Given the description of an element on the screen output the (x, y) to click on. 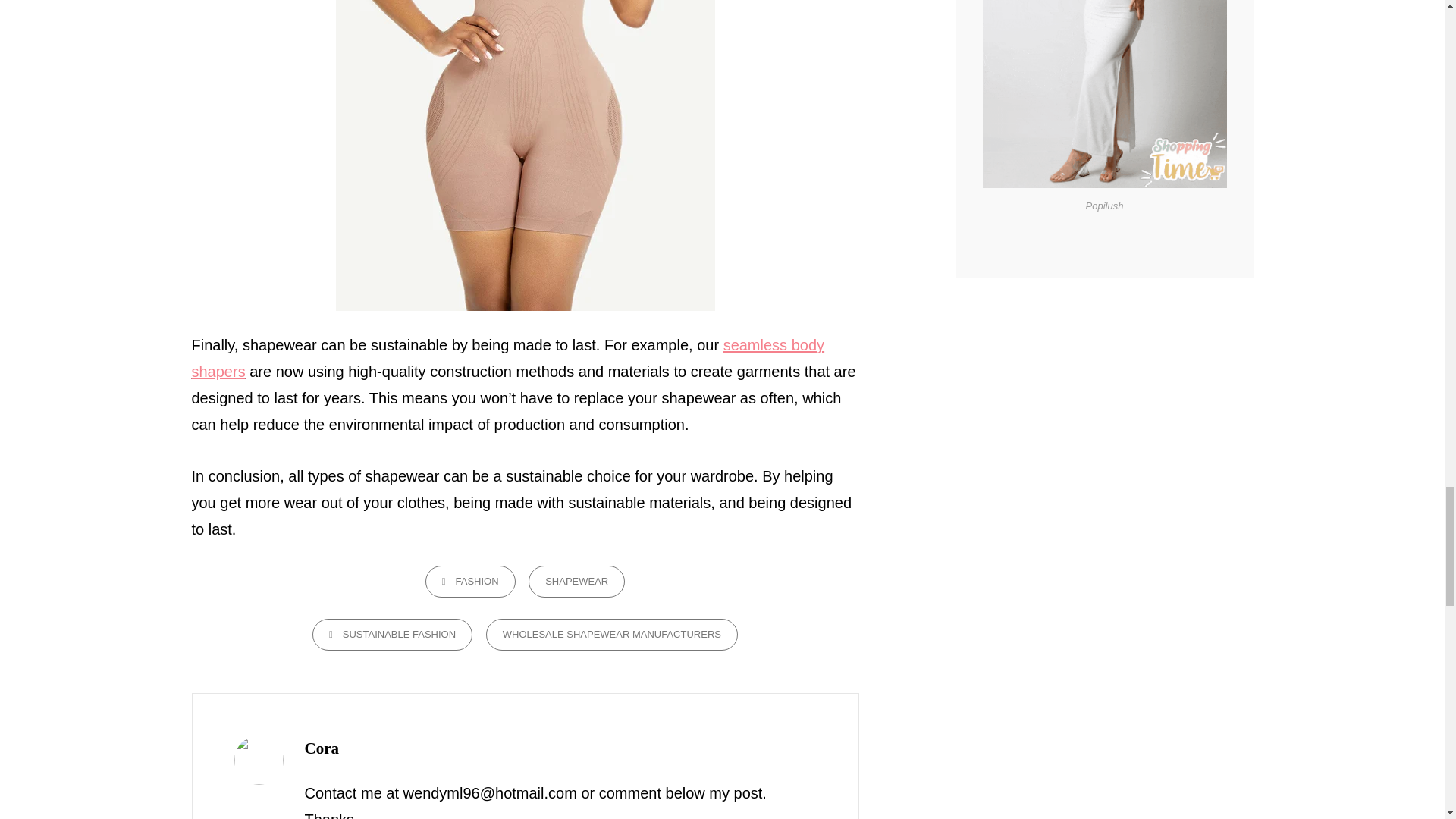
FASHION (470, 581)
SUSTAINABLE FASHION (392, 634)
WHOLESALE SHAPEWEAR MANUFACTURERS (612, 634)
SHAPEWEAR (576, 581)
seamless body shapers (507, 358)
